Given the description of an element on the screen output the (x, y) to click on. 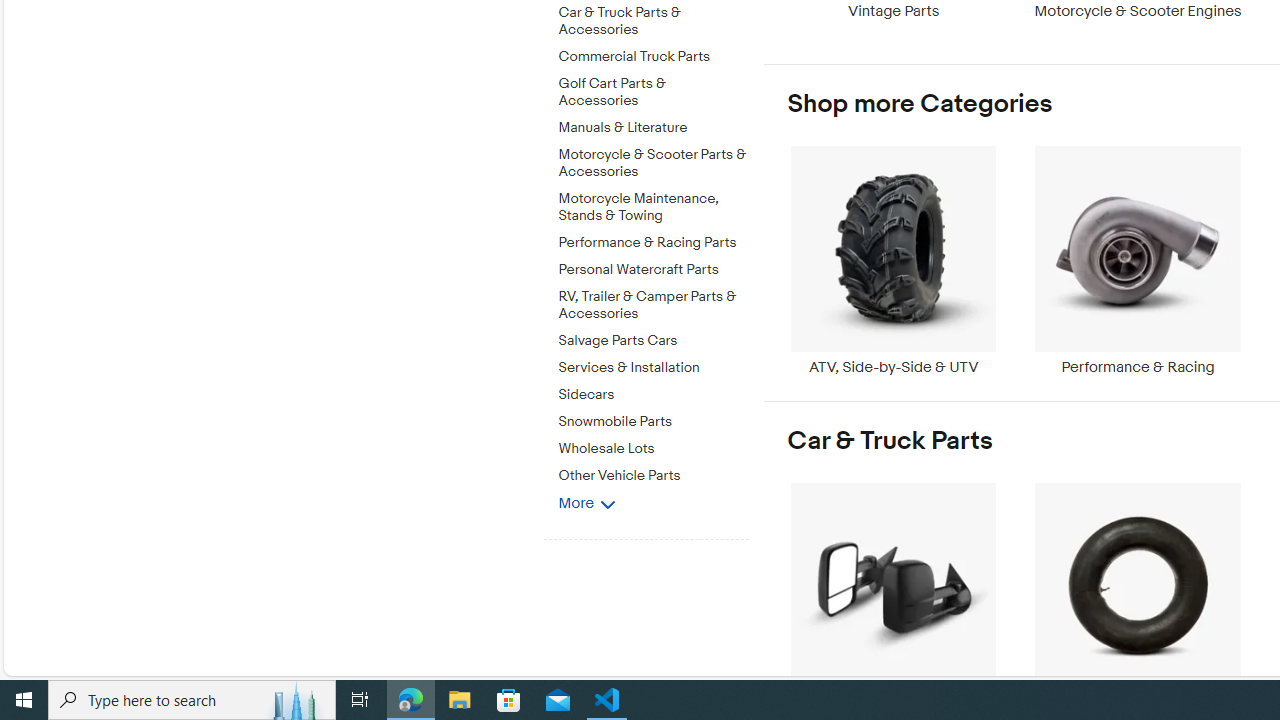
Services & Installation (653, 368)
Other Vehicle Parts (653, 476)
Exterior Parts & Accessories (893, 596)
Performance & Racing (1137, 260)
Performance & Racing Parts (653, 243)
Golf Cart Parts & Accessories (653, 92)
Performance & Racing (1137, 260)
Salvage Parts Cars (653, 337)
Motorcycle Maintenance, Stands & Towing (653, 208)
Car & Truck Parts & Accessories (653, 22)
Motorcycle & Scooter Parts & Accessories (653, 160)
RV, Trailer & Camper Parts & Accessories (653, 302)
Golf Cart Parts & Accessories (653, 88)
Wholesale Lots (653, 449)
ATV, Side-by-Side & UTV (893, 260)
